Given the description of an element on the screen output the (x, y) to click on. 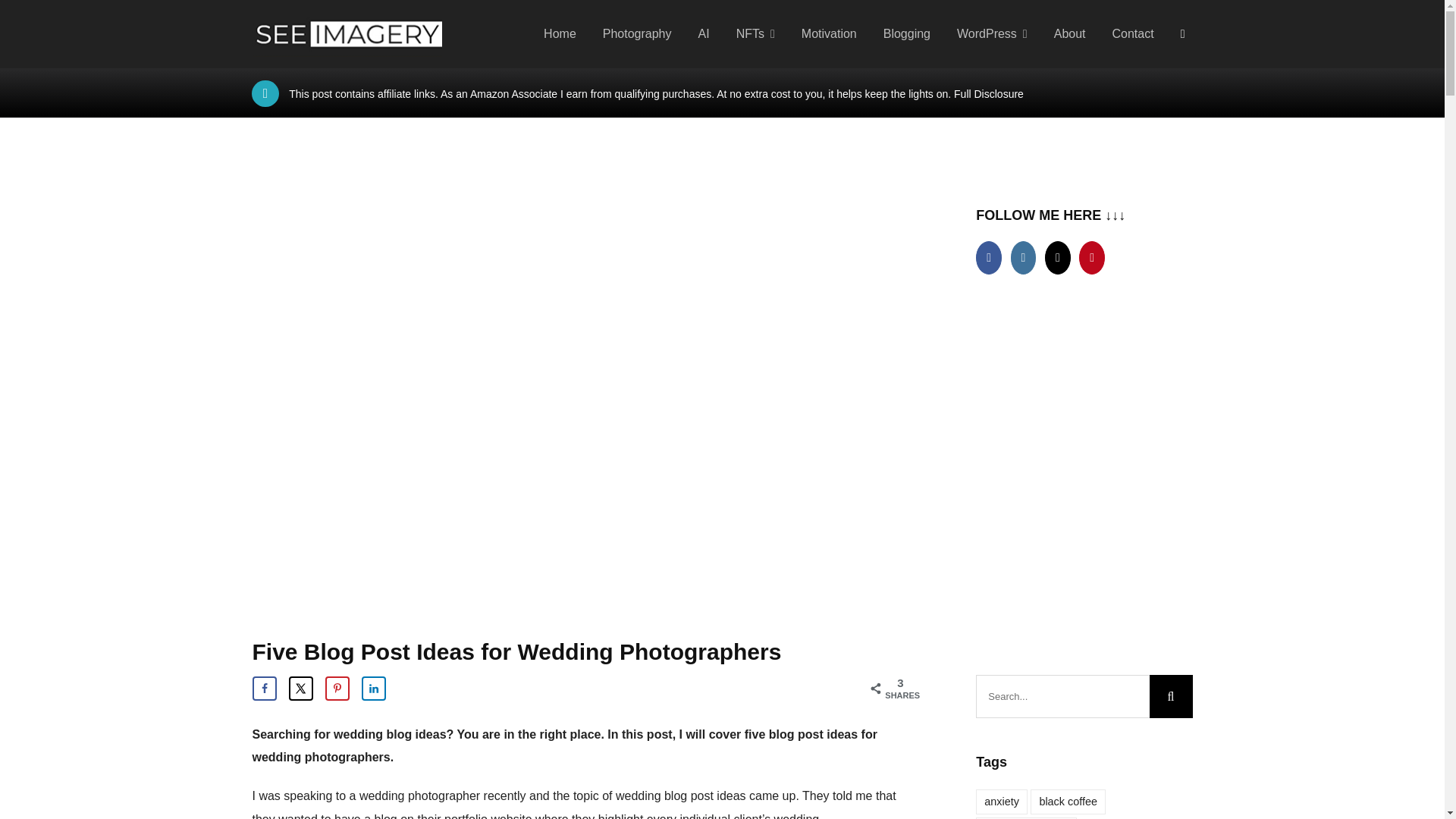
Photography (637, 33)
Save to Pinterest (336, 688)
Share on X (300, 688)
Share on Facebook (263, 688)
Share on LinkedIn (373, 688)
Full Disclosure (988, 93)
Blogging (906, 33)
WordPress (992, 33)
Motivation (828, 33)
